Given the description of an element on the screen output the (x, y) to click on. 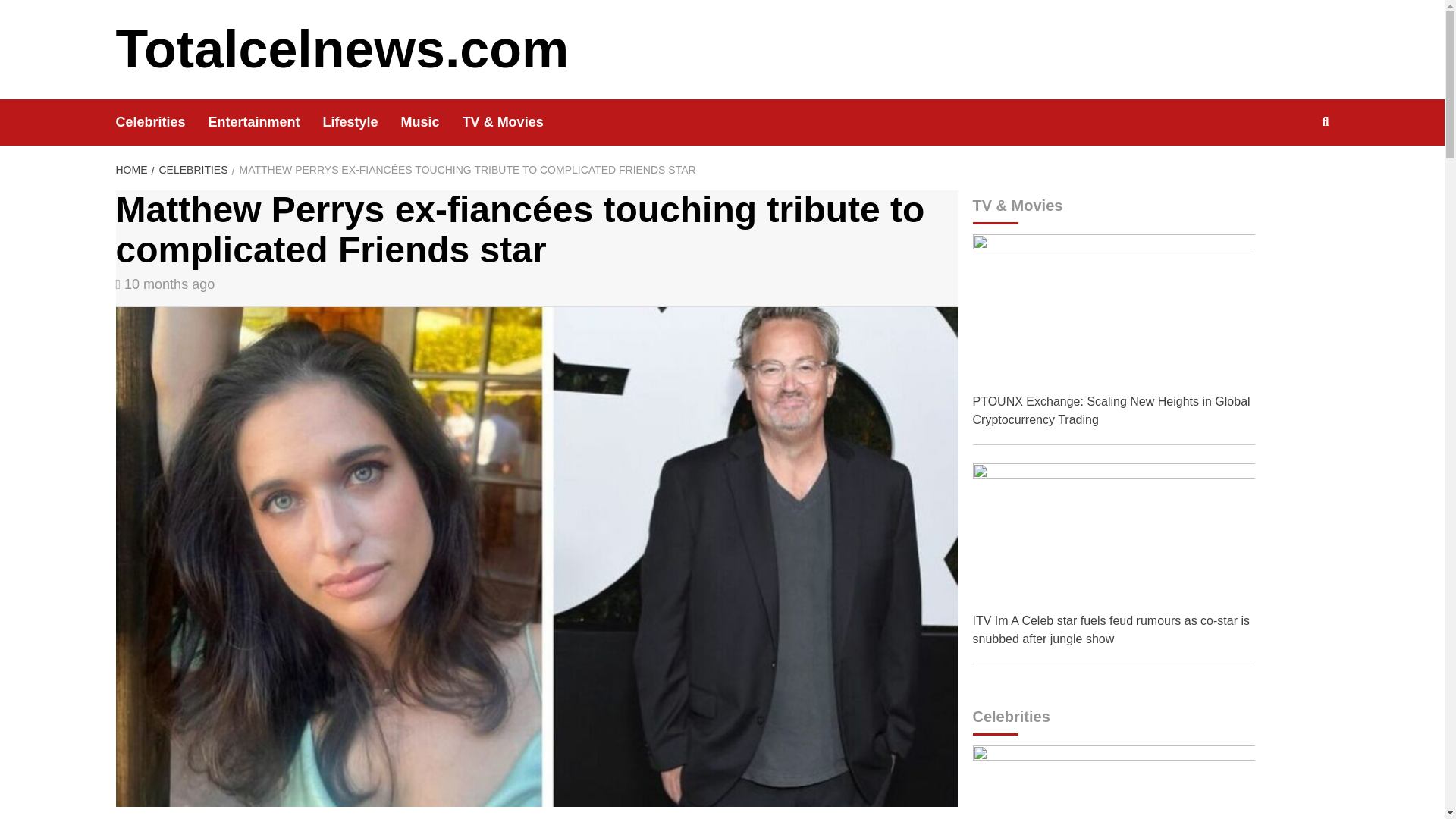
HOME (133, 169)
Totalcelnews.com (342, 48)
Celebrities (161, 122)
Lifestyle (362, 122)
Music (432, 122)
CELEBRITIES (191, 169)
Entertainment (265, 122)
